Given the description of an element on the screen output the (x, y) to click on. 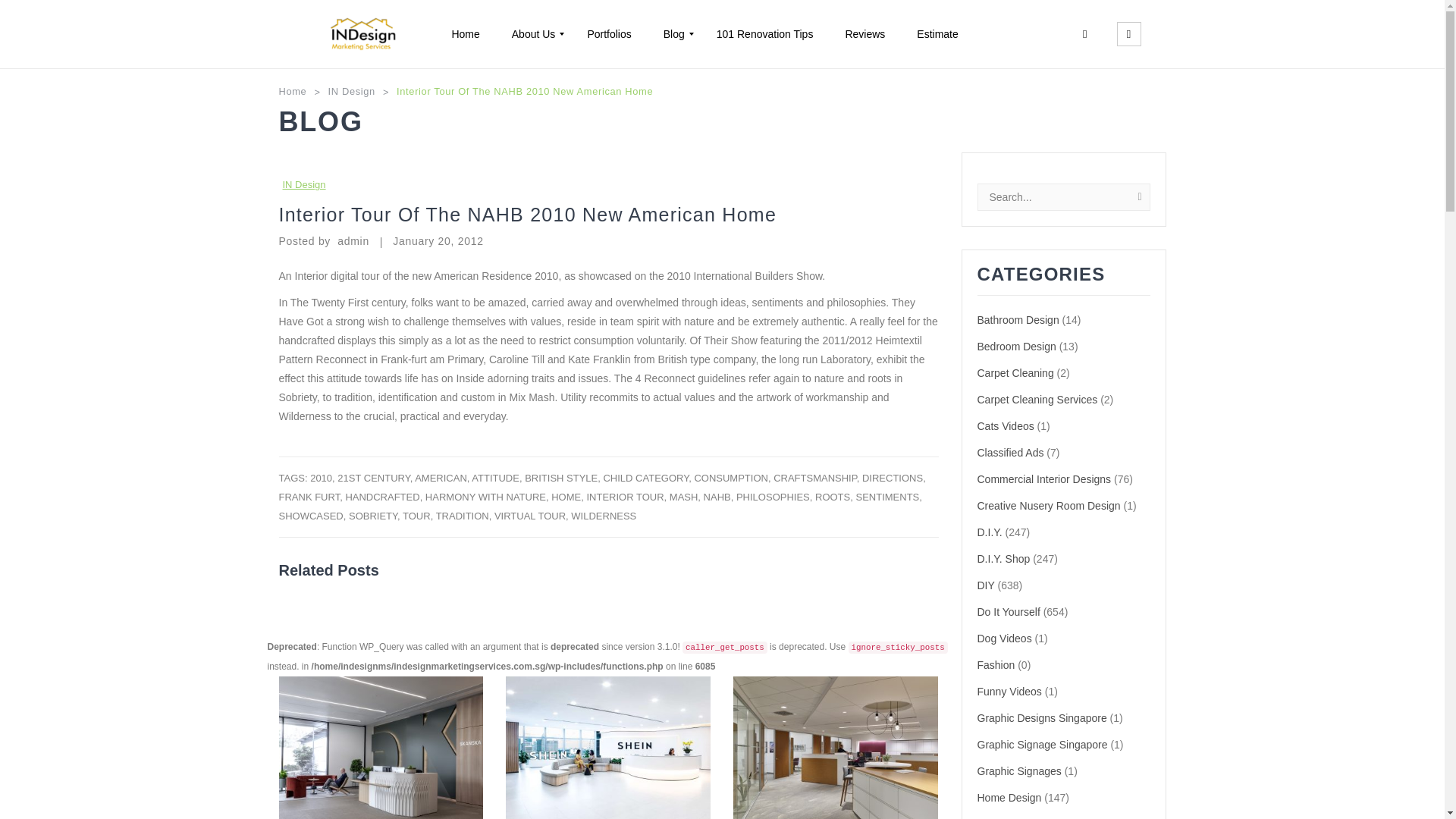
SENTIMENTS (887, 496)
HOME (565, 496)
MASH (683, 496)
21ST CENTURY (373, 478)
HANDCRAFTED (382, 496)
INDesign Marketing Services (362, 34)
CONSUMPTION (731, 478)
Estimate (937, 33)
PHILOSOPHIES (772, 496)
INTERIOR TOUR (624, 496)
FRANK FURT (309, 496)
Search (1129, 34)
Portfolios (608, 33)
Home (293, 91)
